Given the description of an element on the screen output the (x, y) to click on. 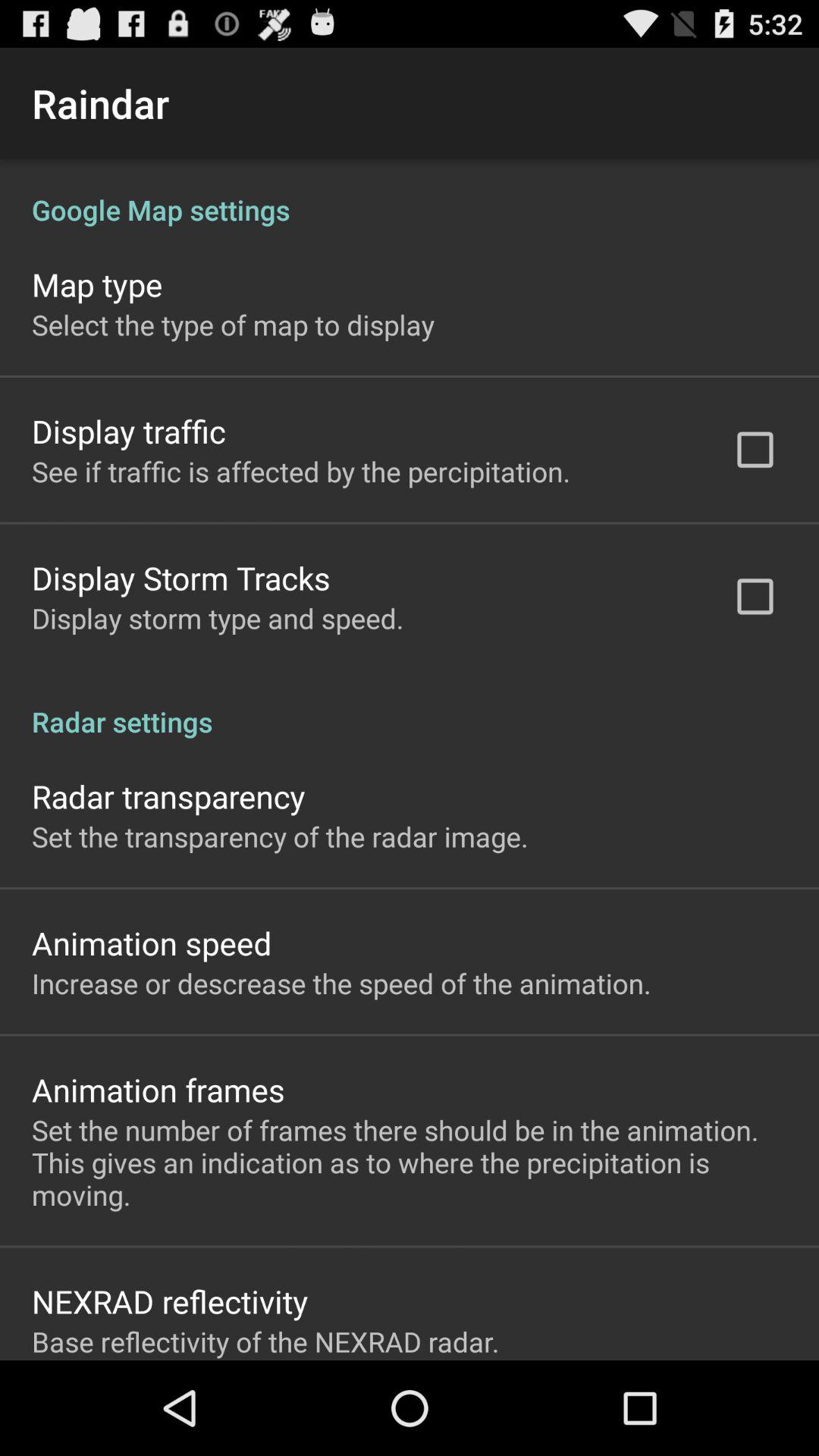
launch radar settings icon (409, 705)
